Given the description of an element on the screen output the (x, y) to click on. 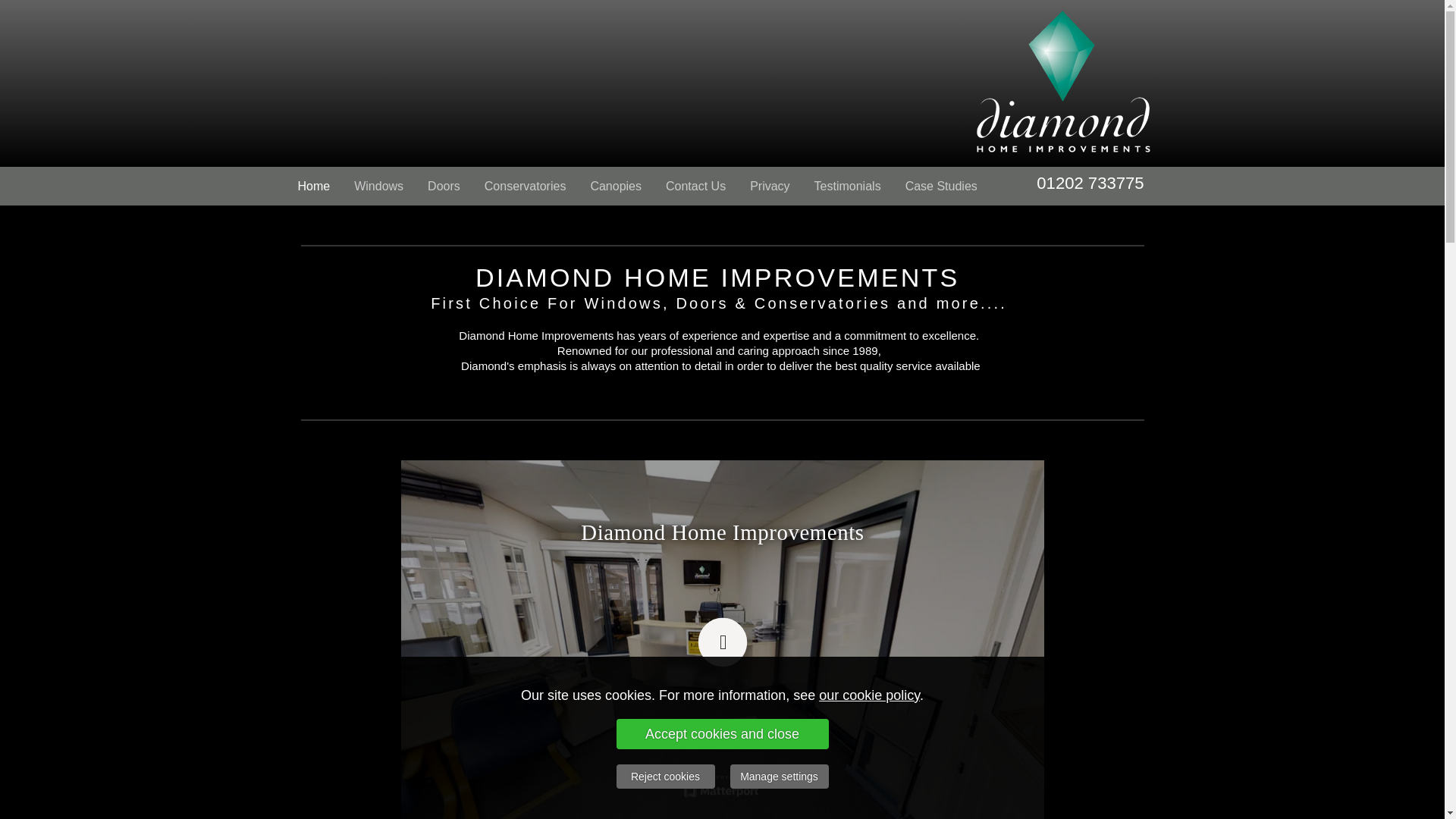
Privacy (770, 186)
our cookie policy (869, 694)
Case Studies (941, 186)
Testimonials (847, 186)
Manage settings (778, 776)
Canopies (615, 186)
Contact Us (695, 186)
Doors (442, 186)
Conservatories (524, 186)
Windows (378, 186)
